Given the description of an element on the screen output the (x, y) to click on. 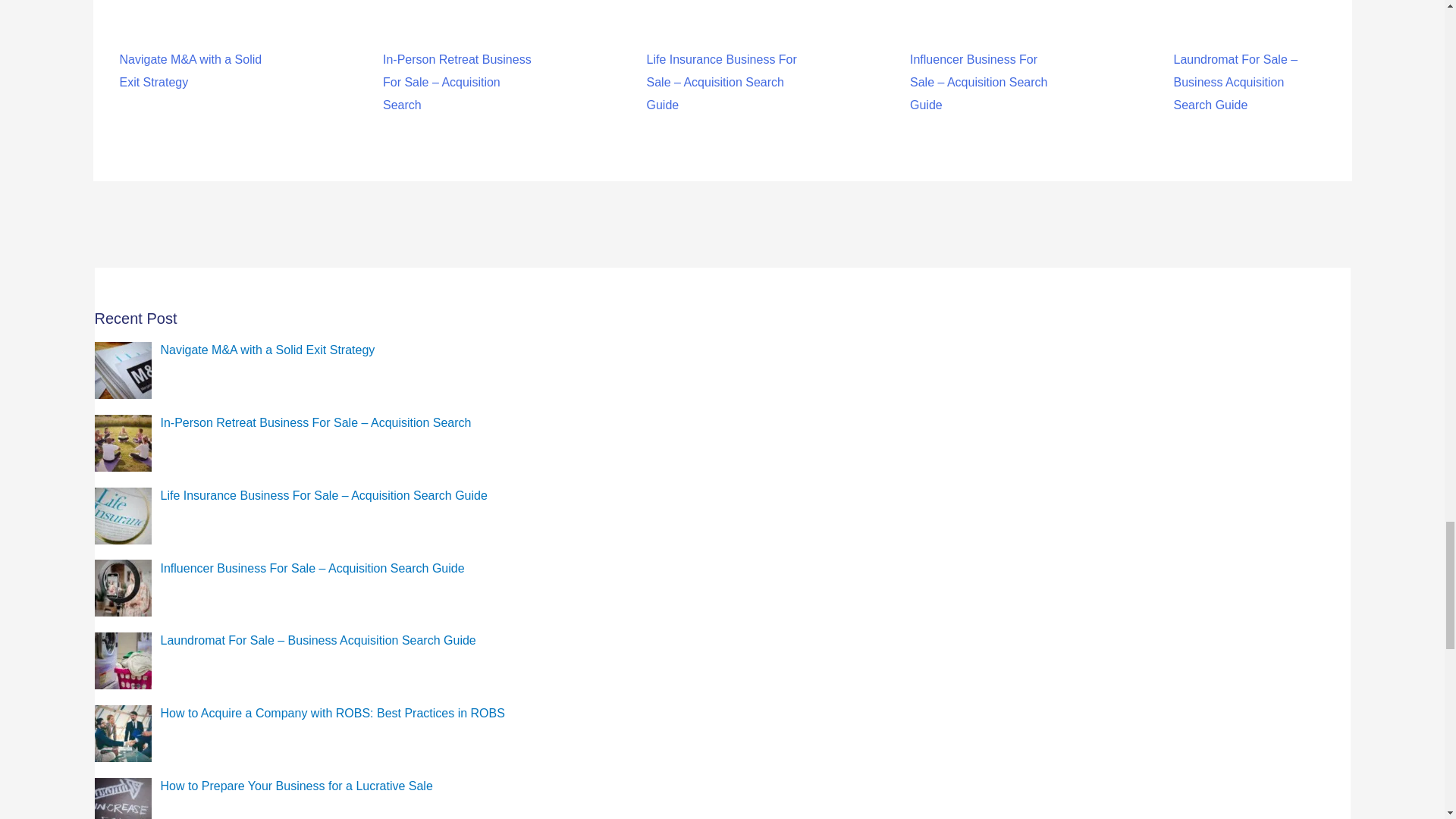
How to Acquire a Company with ROBS: Best Practices in ROBS (332, 712)
How to Prepare Your Business for a Lucrative Sale (296, 785)
